Given the description of an element on the screen output the (x, y) to click on. 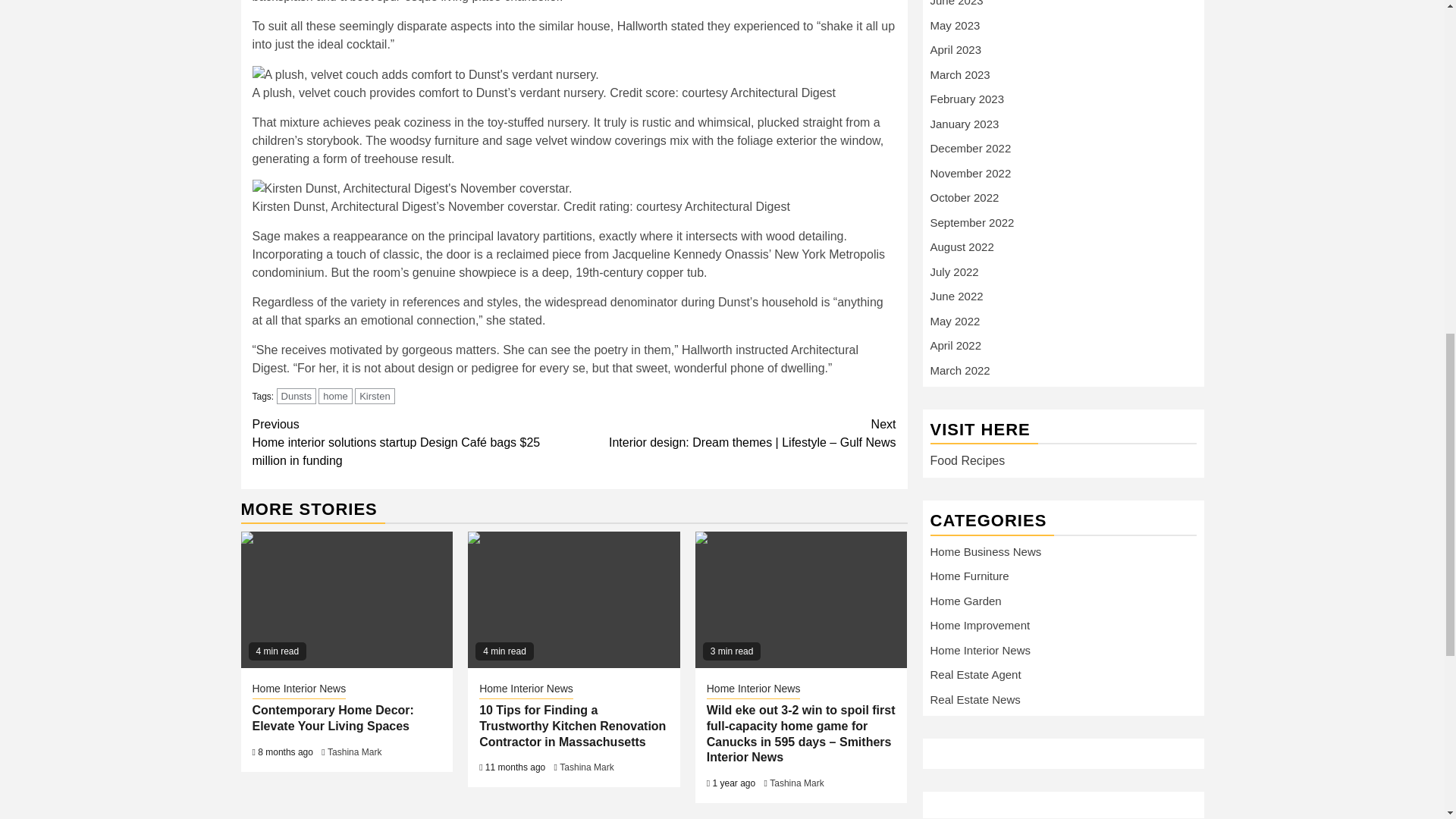
Home Interior News (753, 689)
Dunsts (295, 396)
Home Interior News (298, 689)
Contemporary Home Decor: Elevate Your Living Spaces (346, 599)
Tashina Mark (797, 783)
home (335, 396)
Tashina Mark (585, 767)
Contemporary Home Decor: Elevate Your Living Spaces (332, 717)
Home Interior News (526, 689)
Tashina Mark (354, 751)
Kirsten (374, 396)
